Given the description of an element on the screen output the (x, y) to click on. 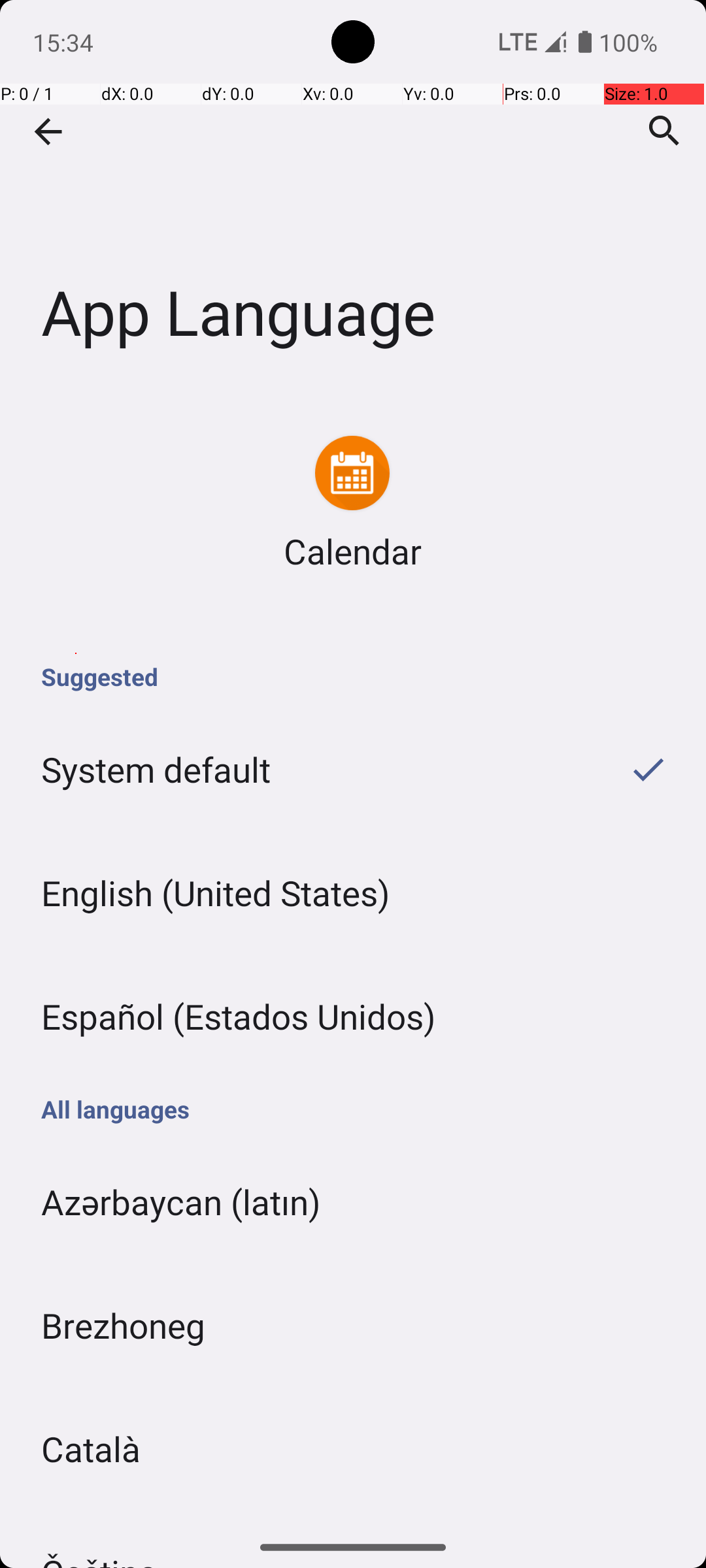
App Language Element type: android.widget.FrameLayout (353, 195)
Suggested Element type: android.widget.TextView (353, 676)
English (United States) Element type: android.widget.TextView (353, 892)
Español (Estados Unidos) Element type: android.widget.TextView (353, 1016)
All languages Element type: android.widget.TextView (353, 1109)
Azərbaycan (latın) Element type: android.widget.TextView (353, 1201)
Brezhoneg Element type: android.widget.TextView (353, 1325)
Català Element type: android.widget.TextView (353, 1448)
Čeština Element type: android.widget.TextView (353, 1518)
